Given the description of an element on the screen output the (x, y) to click on. 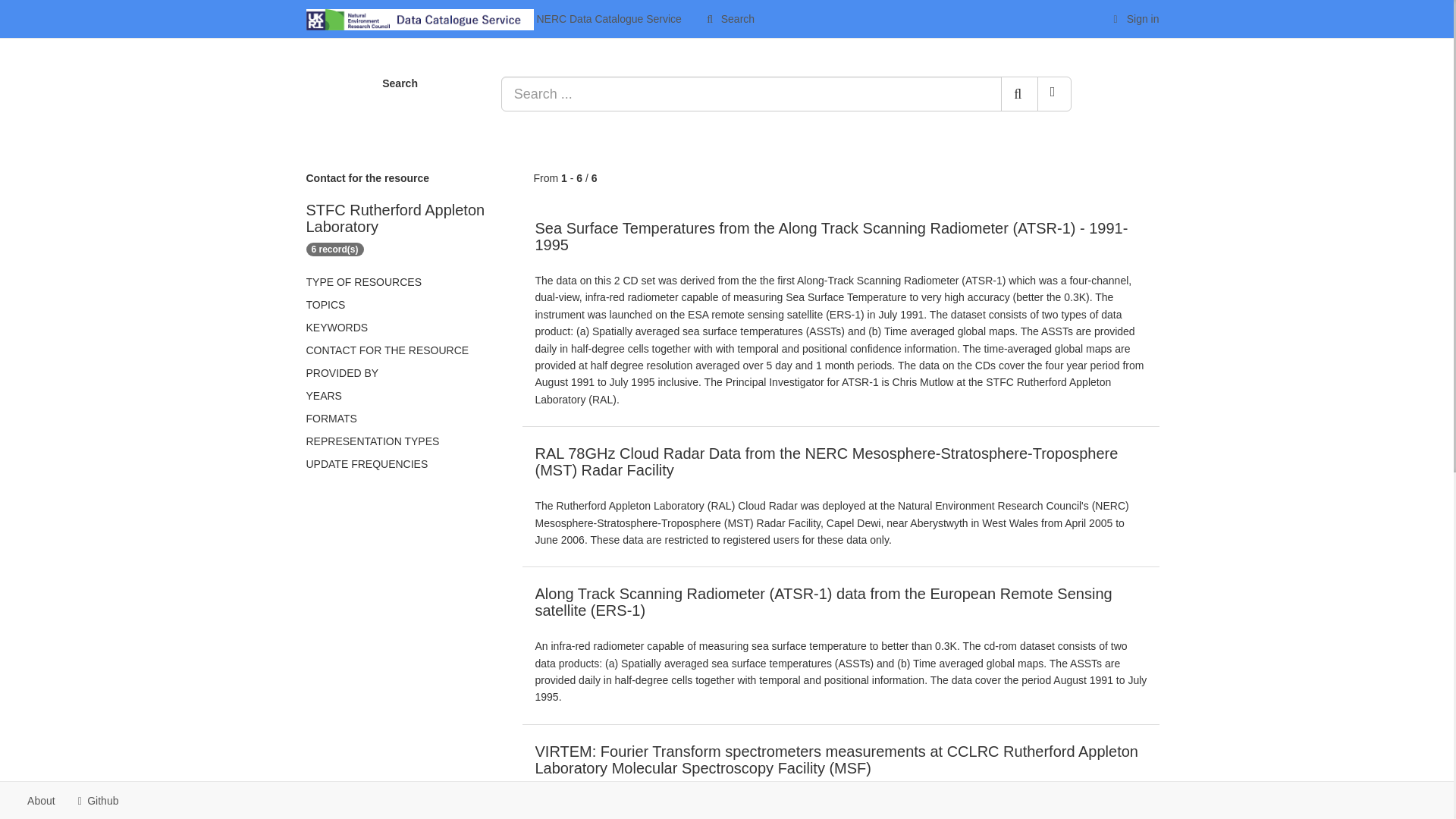
Search (1019, 93)
  Search (729, 18)
NERC Data Catalogue Service (493, 18)
Reset (1053, 93)
  Sign in (1134, 18)
Search (729, 18)
Sign in (1134, 18)
